Given the description of an element on the screen output the (x, y) to click on. 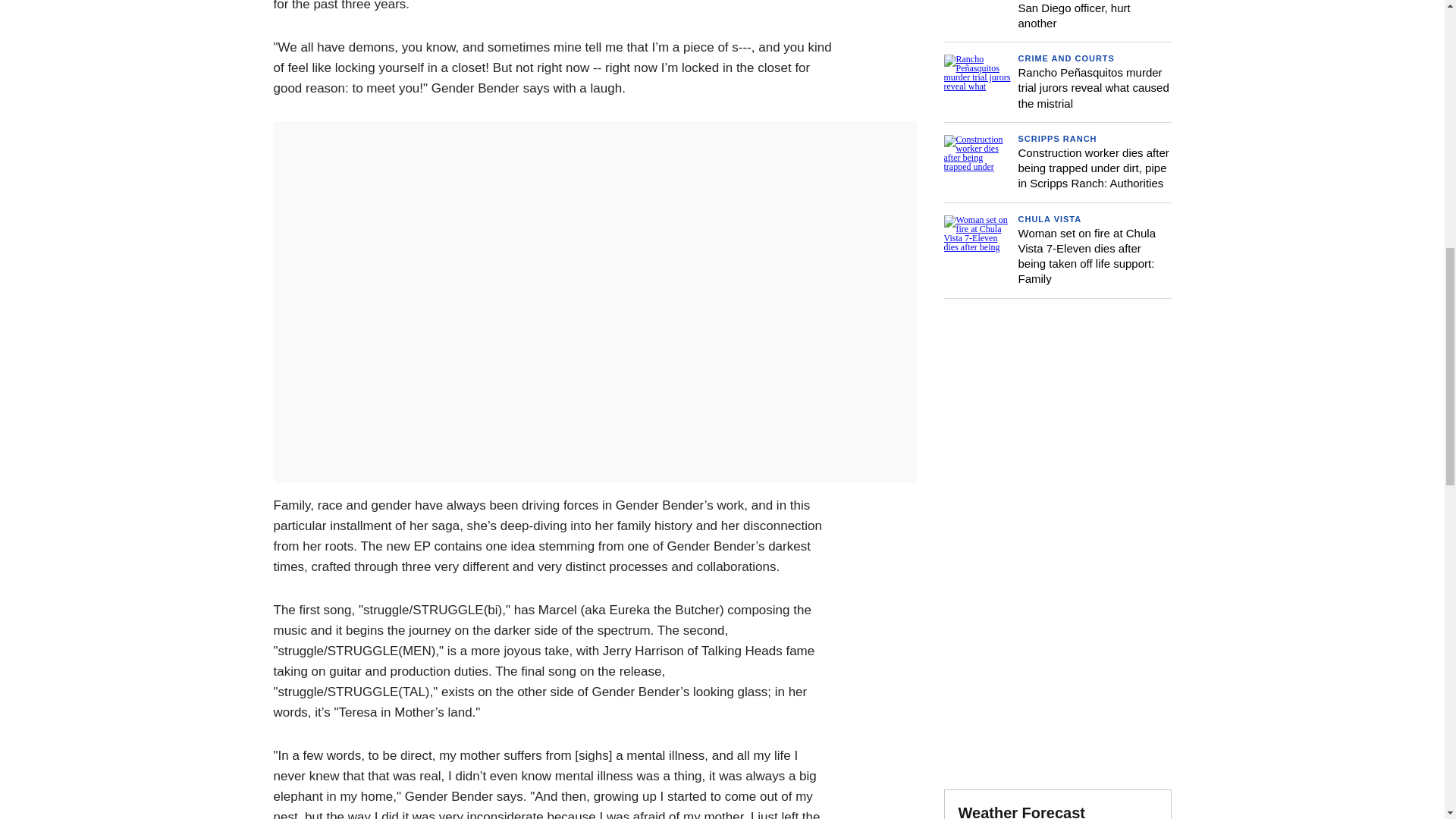
CRIME AND COURTS (1065, 58)
SCRIPPS RANCH (1056, 138)
